Given the description of an element on the screen output the (x, y) to click on. 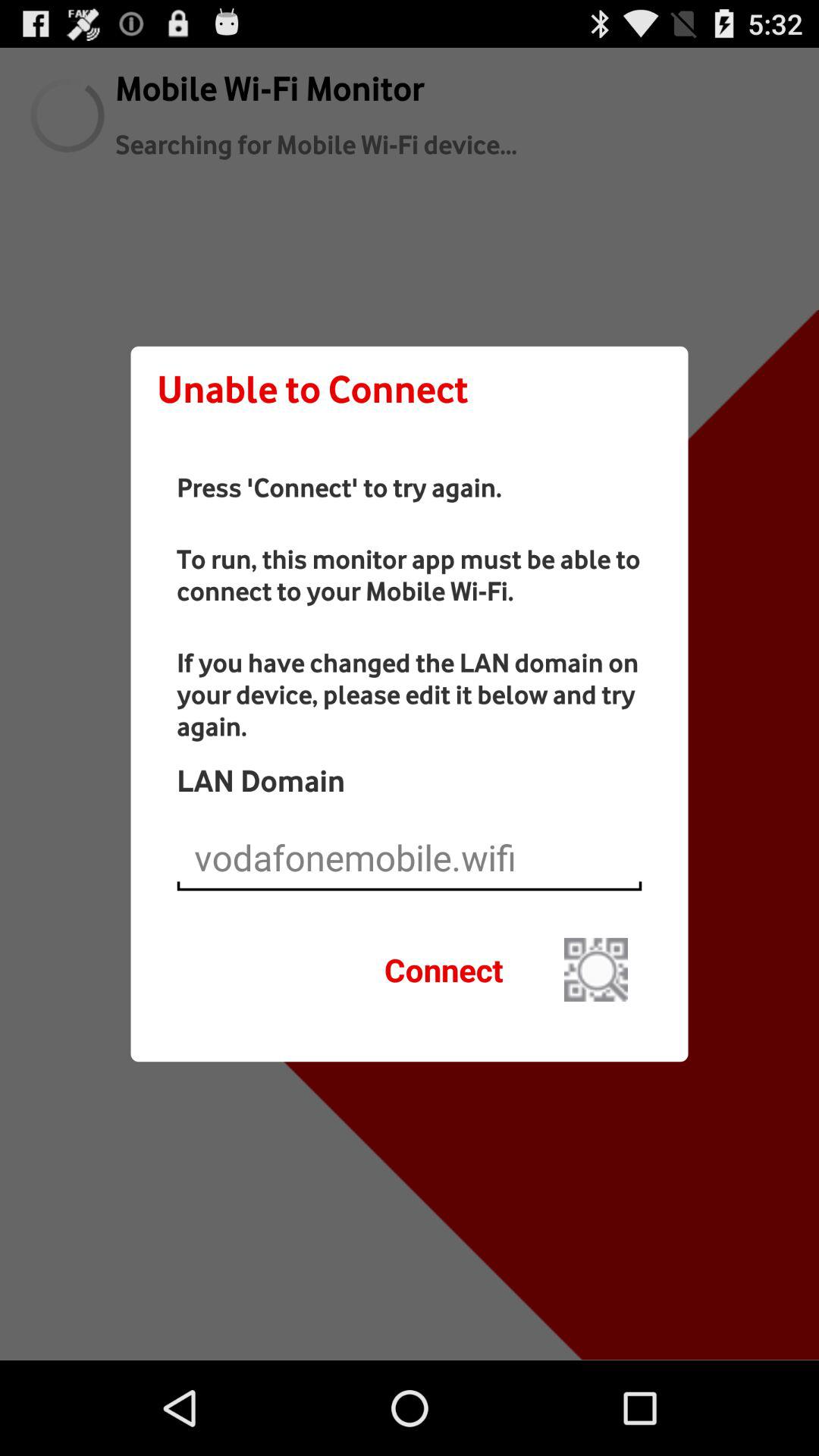
turn on button to the right of connect icon (595, 969)
